Given the description of an element on the screen output the (x, y) to click on. 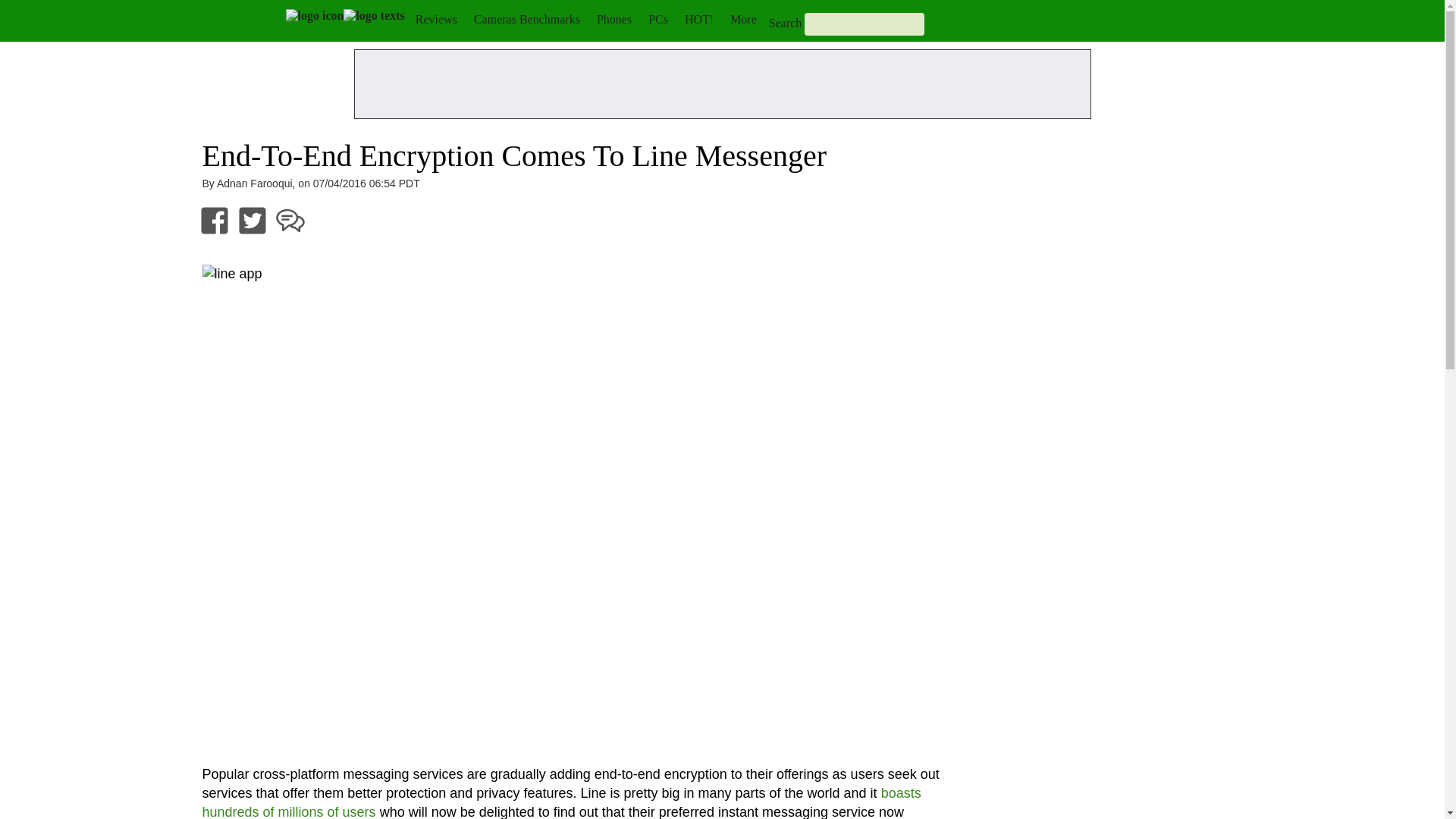
Reviews (435, 19)
PCs (657, 19)
Cameras Benchmarks (526, 19)
Phones (613, 19)
